Given the description of an element on the screen output the (x, y) to click on. 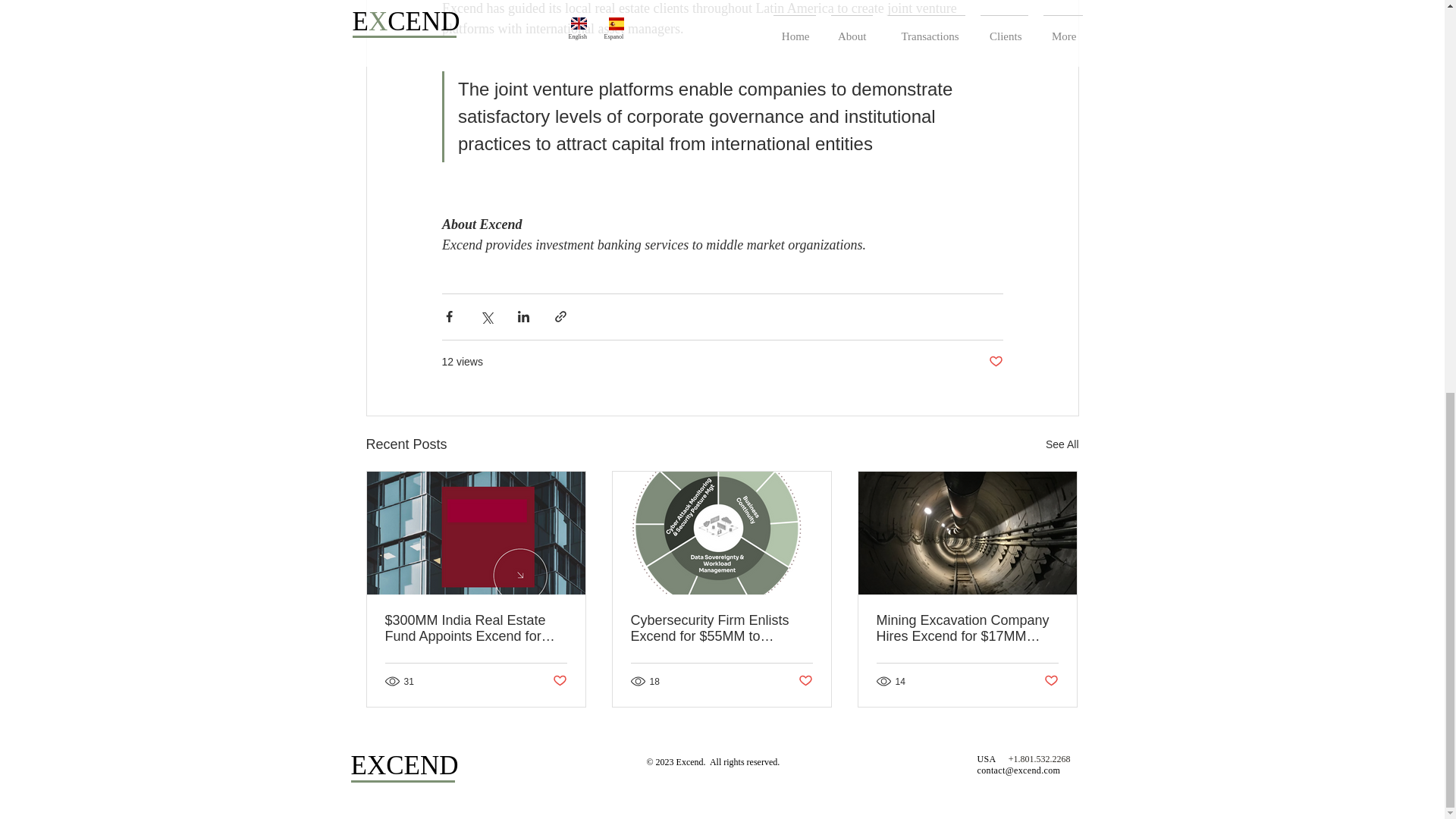
Post not marked as liked (1050, 681)
Post not marked as liked (558, 681)
Post not marked as liked (995, 361)
EXCEND (404, 764)
Post not marked as liked (804, 681)
See All (1061, 444)
